Given the description of an element on the screen output the (x, y) to click on. 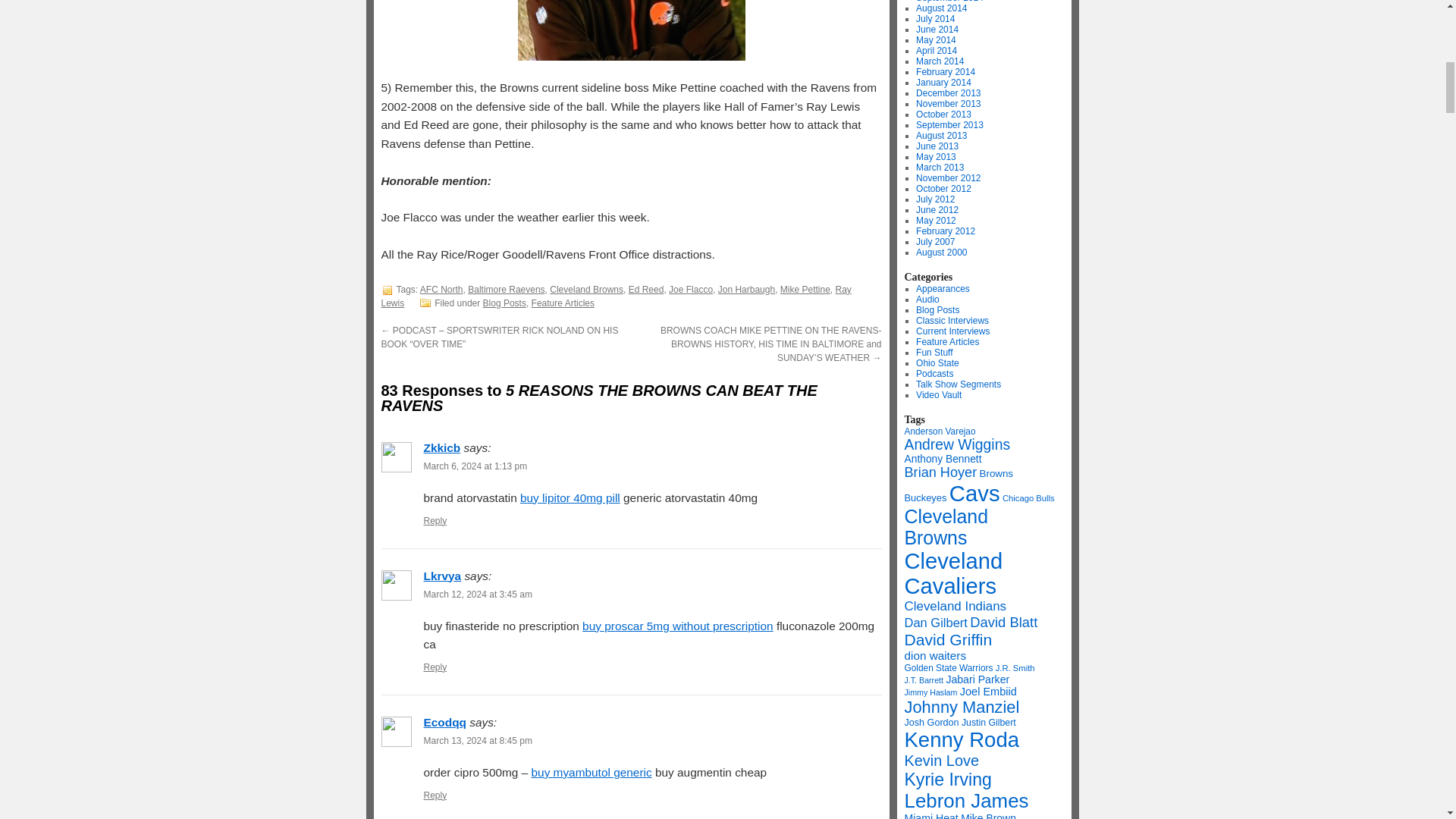
Zkkicb (441, 447)
buy lipitor 40mg pill (569, 497)
Ed Reed (645, 289)
Blog Posts (504, 303)
Mike Pettine (804, 289)
Reply (434, 520)
Baltimore Raevens (505, 289)
Feature Articles (562, 303)
Jon Harbaugh (745, 289)
Ray Lewis (615, 296)
March 6, 2024 at 1:13 pm (475, 466)
Joe Flacco (690, 289)
Cleveland Browns (586, 289)
AFC North (441, 289)
Lkrvya (442, 575)
